Given the description of an element on the screen output the (x, y) to click on. 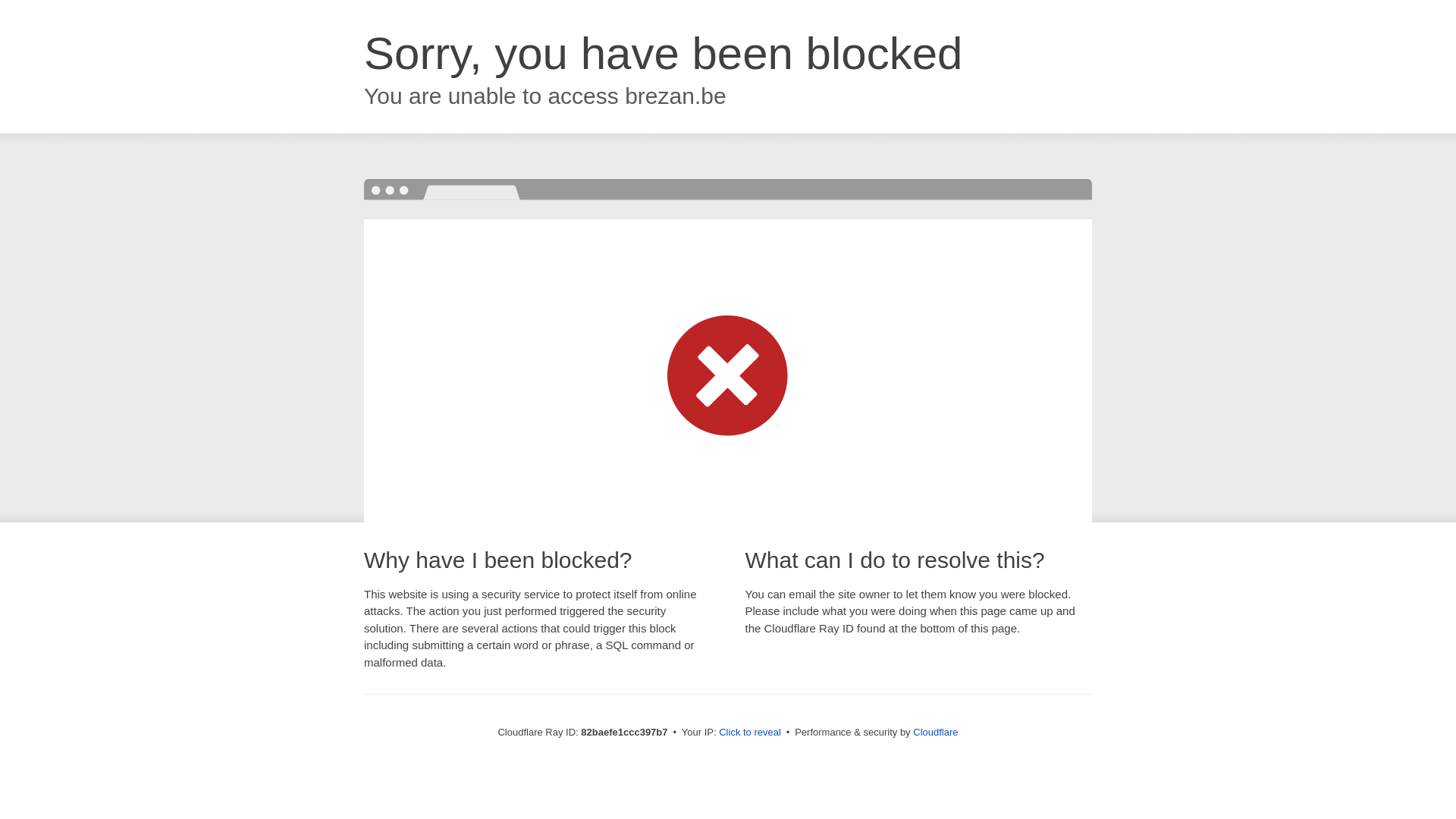
Cloudflare Element type: text (935, 731)
Click to reveal Element type: text (749, 732)
